Given the description of an element on the screen output the (x, y) to click on. 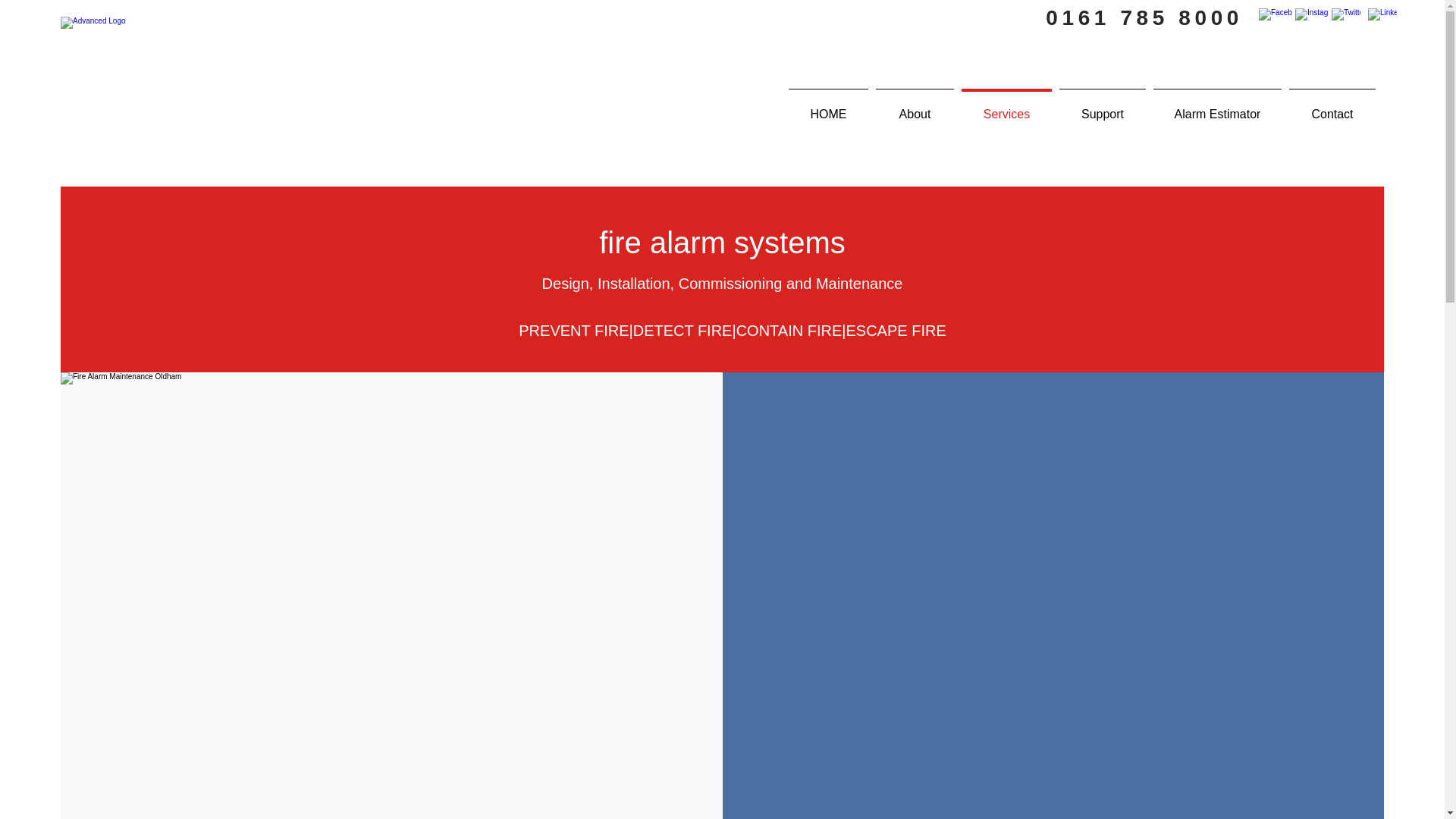
0161 785 8000 (1144, 17)
Support (1102, 107)
Alarm Estimator (1217, 107)
About (915, 107)
HOME (828, 107)
Services (1006, 107)
Contact (1331, 107)
